Given the description of an element on the screen output the (x, y) to click on. 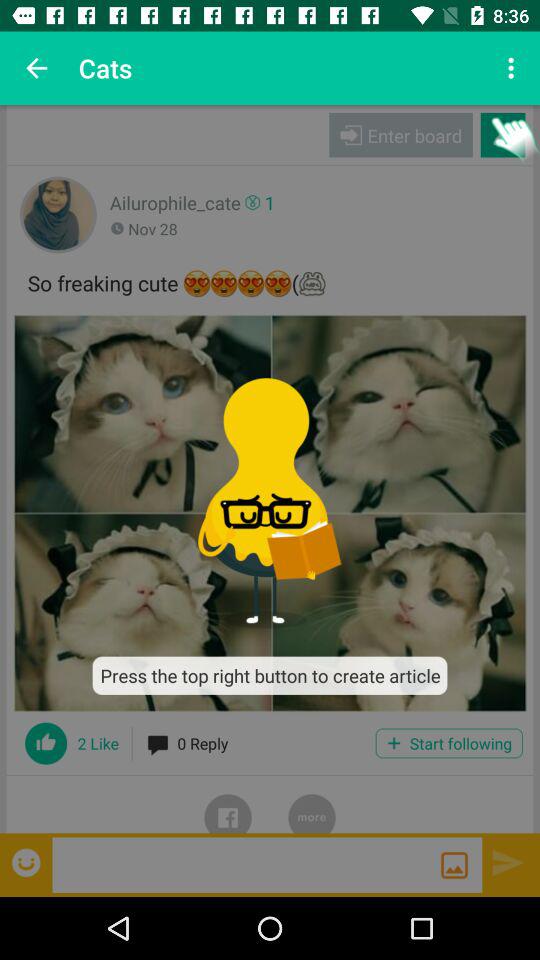
type text (246, 864)
